Given the description of an element on the screen output the (x, y) to click on. 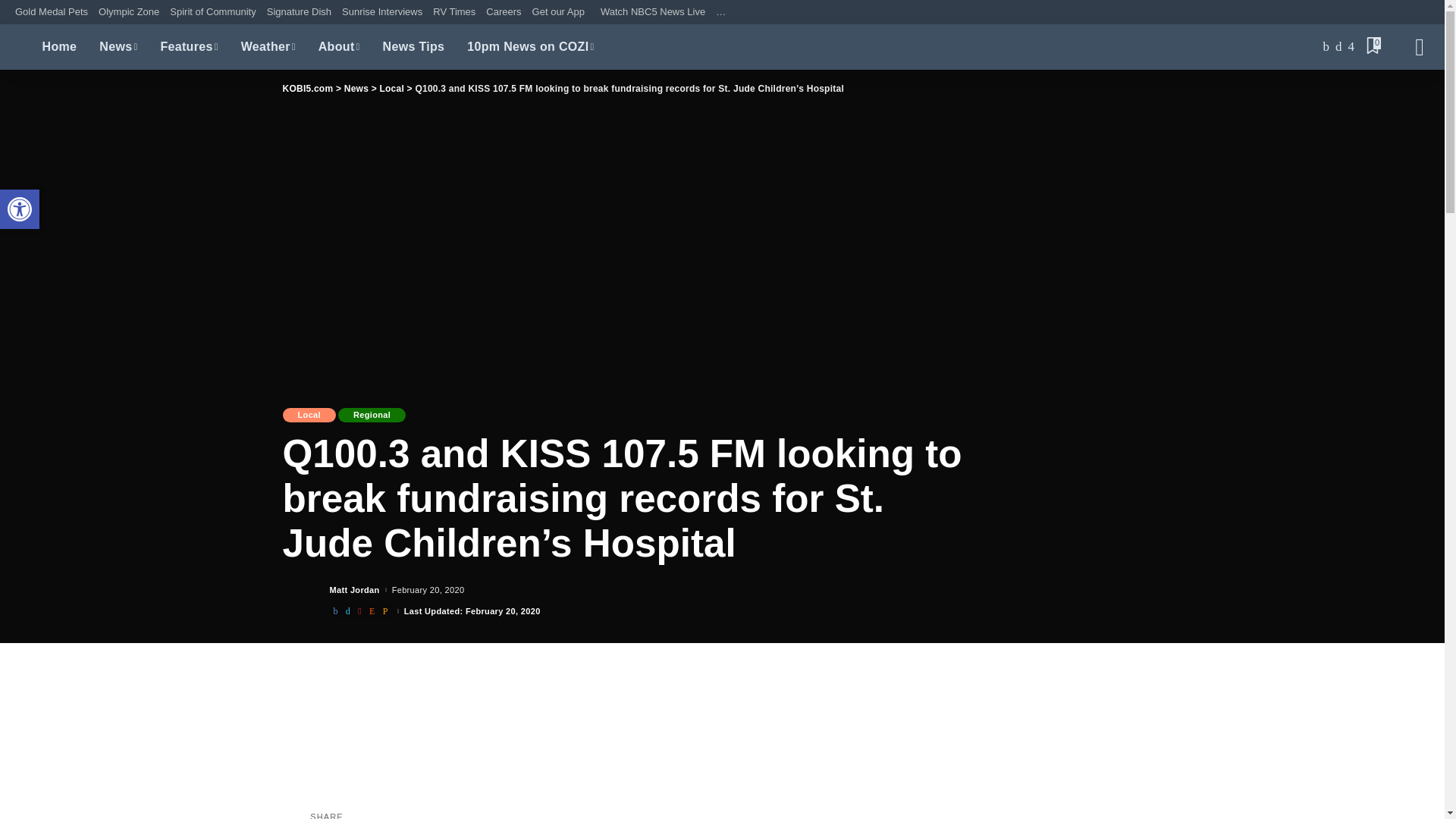
Accessibility Tools (19, 209)
